Given the description of an element on the screen output the (x, y) to click on. 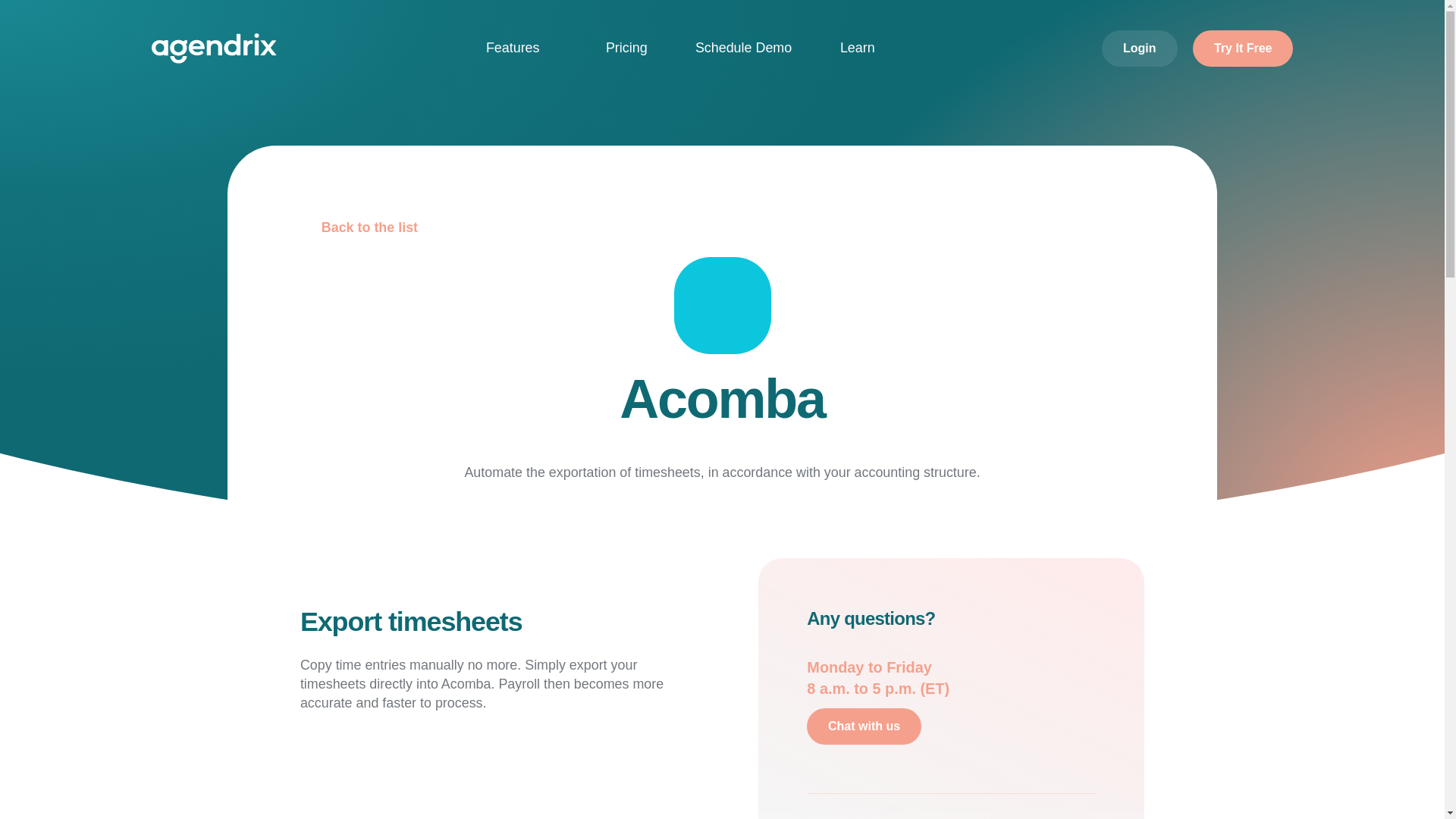
Features (521, 48)
Pricing (626, 48)
Schedule Demo (743, 48)
Learn (866, 48)
Chat with us (863, 726)
Back to the list (358, 227)
Login (1139, 48)
Try It Free (1242, 48)
